Given the description of an element on the screen output the (x, y) to click on. 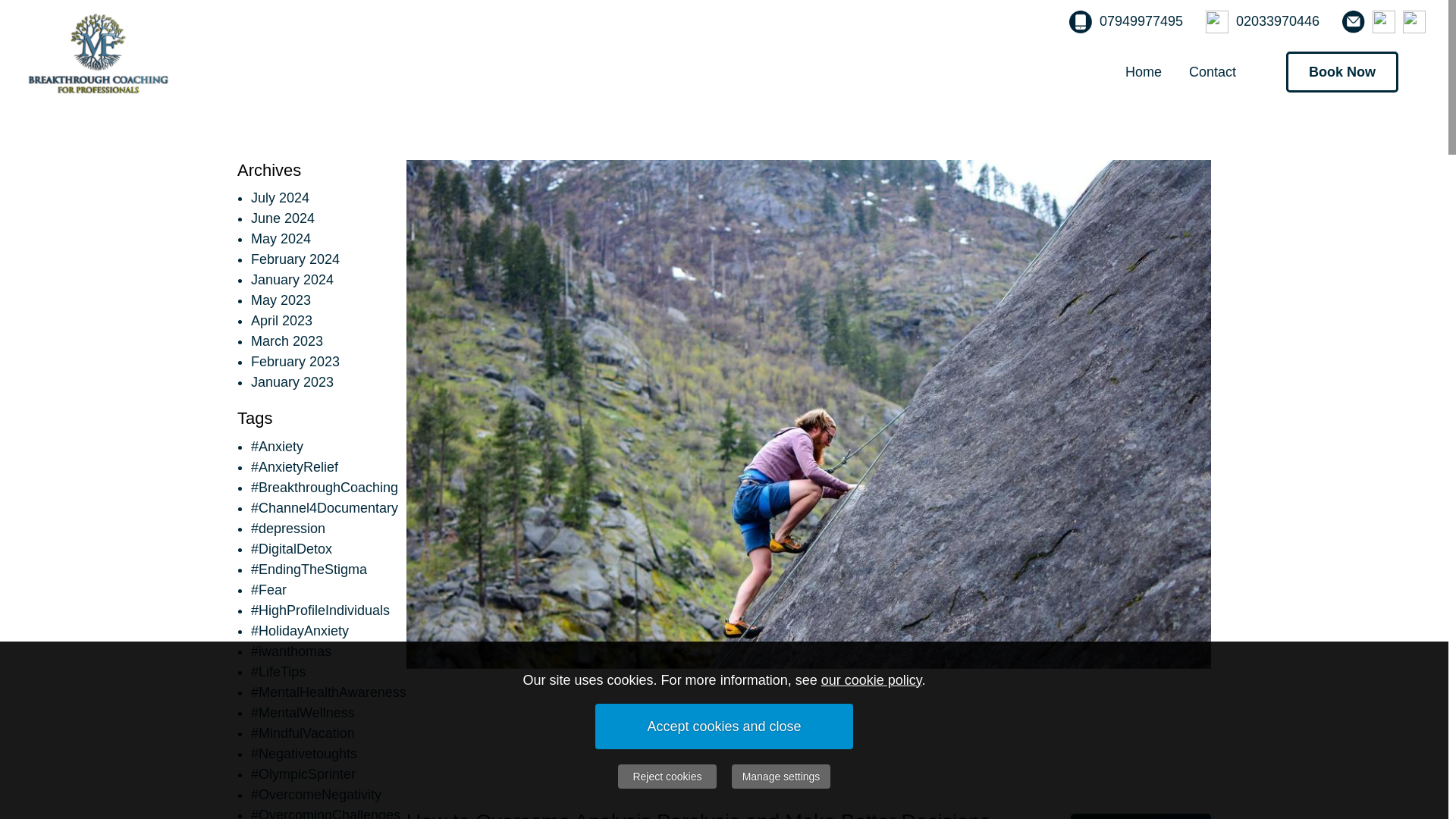
Home (1143, 71)
February 2023 (294, 361)
July 2024 (279, 197)
Back to blog (1140, 816)
May 2024 (280, 238)
March 2023 (286, 340)
January 2024 (291, 279)
02033970446 (1277, 20)
Book Now (1341, 72)
Contact (1211, 71)
January 2023 (291, 381)
February 2024 (294, 258)
07949977495 (1140, 20)
June 2024 (282, 218)
April 2023 (281, 320)
